Given the description of an element on the screen output the (x, y) to click on. 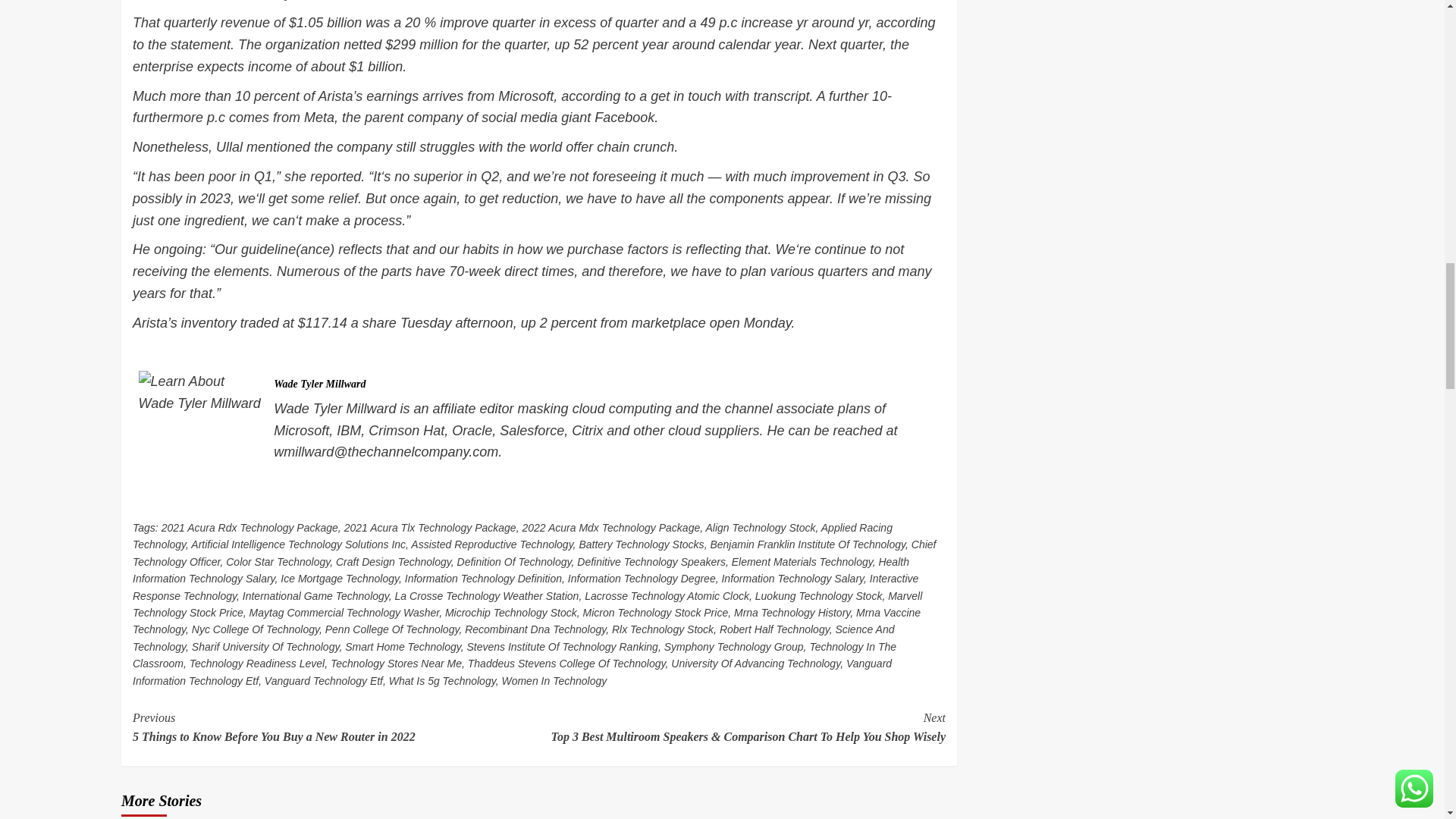
Applied Racing Technology (512, 535)
Assisted Reproductive Technology (491, 544)
2021 Acura Rdx Technology Package (249, 527)
2021 Acura Tlx Technology Package (429, 527)
 Learn About Wade Tyler Millward  (200, 392)
Align Technology Stock (759, 527)
2022 Acura Mdx Technology Package (610, 527)
Benjamin Franklin Institute Of Technology (807, 544)
Chief Technology Officer (534, 552)
Artificial Intelligence Technology Solutions Inc (298, 544)
Battery Technology Stocks (640, 544)
